Given the description of an element on the screen output the (x, y) to click on. 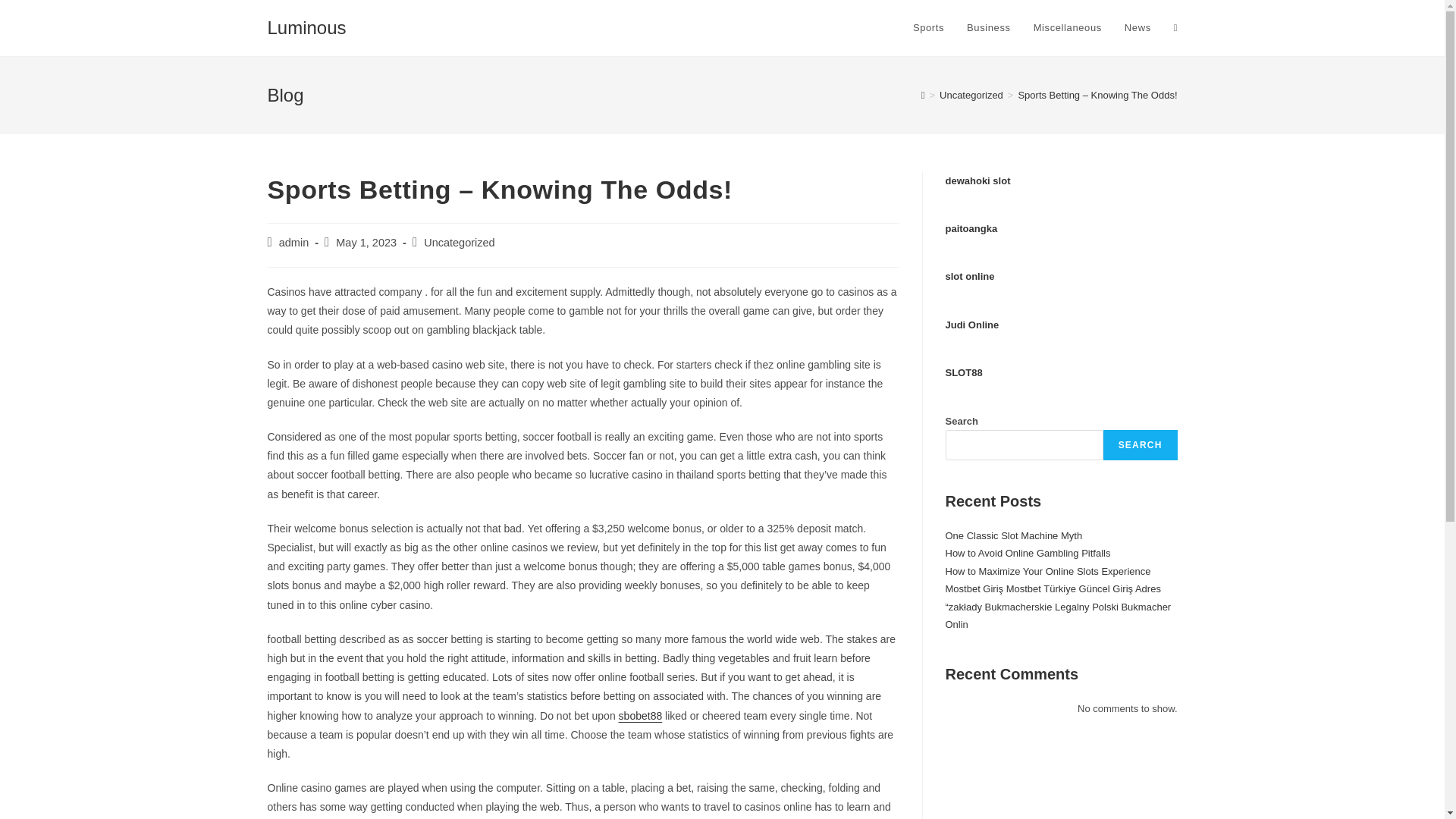
Uncategorized (971, 94)
SLOT88 (962, 372)
dewahoki slot (977, 180)
Judi Online (971, 324)
One Classic Slot Machine Myth (1012, 535)
Uncategorized (459, 242)
slot online (969, 276)
Sports (928, 28)
SEARCH (1140, 444)
paitoangka (970, 228)
How to Maximize Your Online Slots Experience (1047, 571)
Luminous (306, 27)
Posts by admin (293, 242)
Miscellaneous (1067, 28)
How to Avoid Online Gambling Pitfalls (1026, 552)
